Given the description of an element on the screen output the (x, y) to click on. 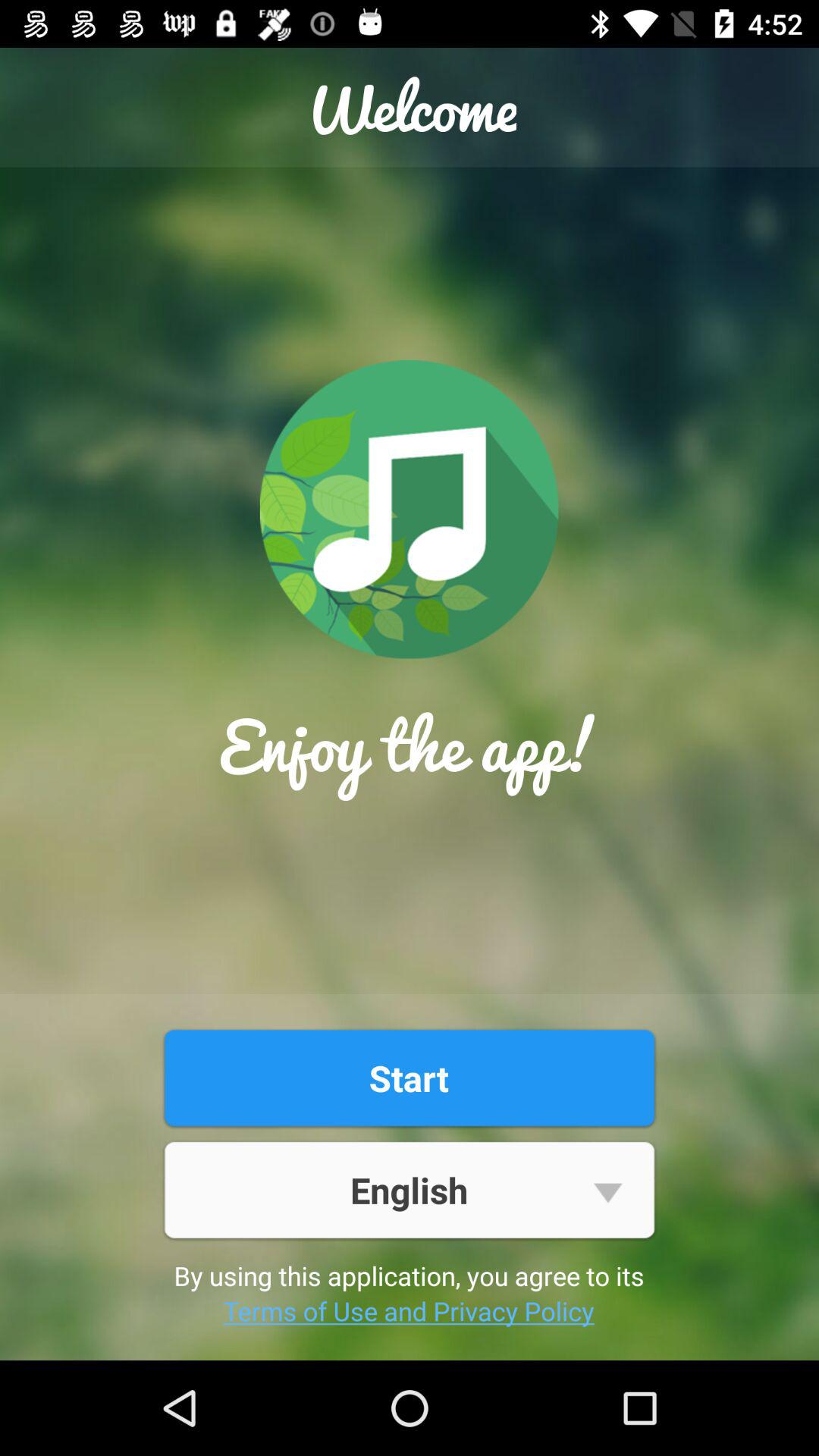
tap the item below enjoy the app! (409, 1078)
